Given the description of an element on the screen output the (x, y) to click on. 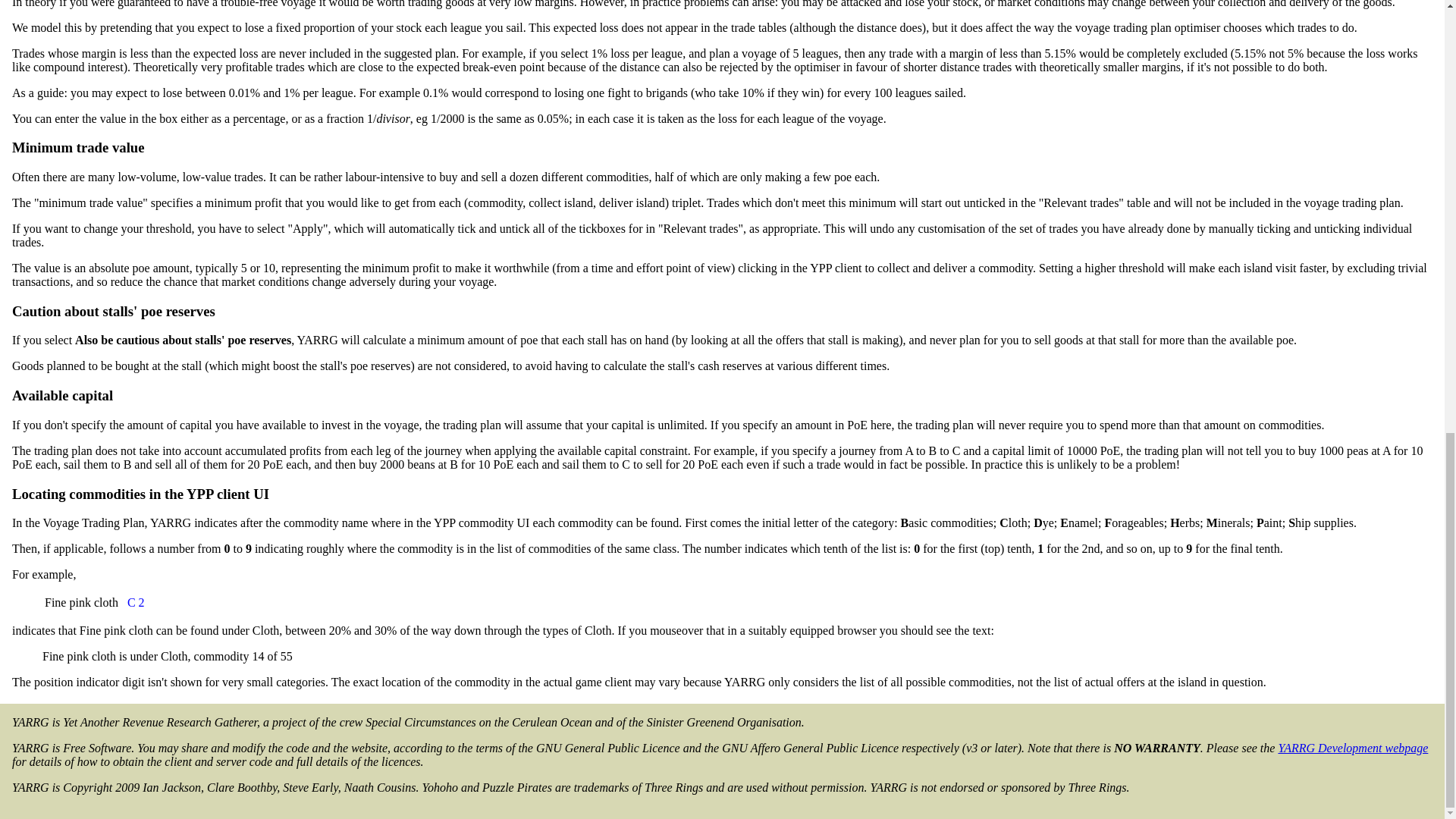
Locating commodities in the YPP client UI (140, 494)
Available capital (62, 395)
Minimum trade value (77, 147)
Caution about stalls' poe reserves (113, 311)
Fine pink cloth is under Cloth, commodity 14 of 55 (136, 602)
YARRG Development webpage (1353, 748)
